Given the description of an element on the screen output the (x, y) to click on. 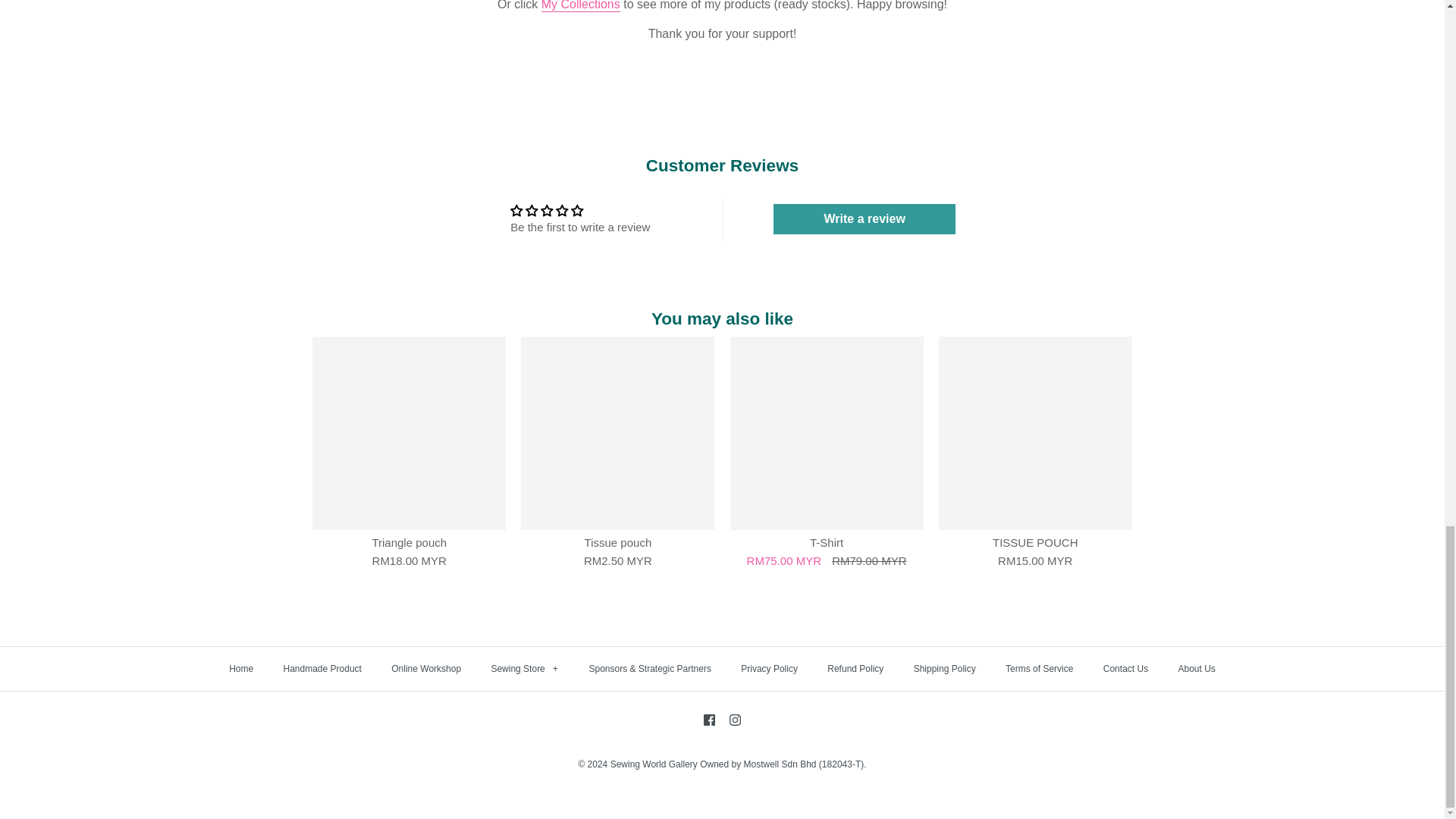
Facebook (708, 719)
Instagram (735, 719)
Facebook (708, 719)
